Given the description of an element on the screen output the (x, y) to click on. 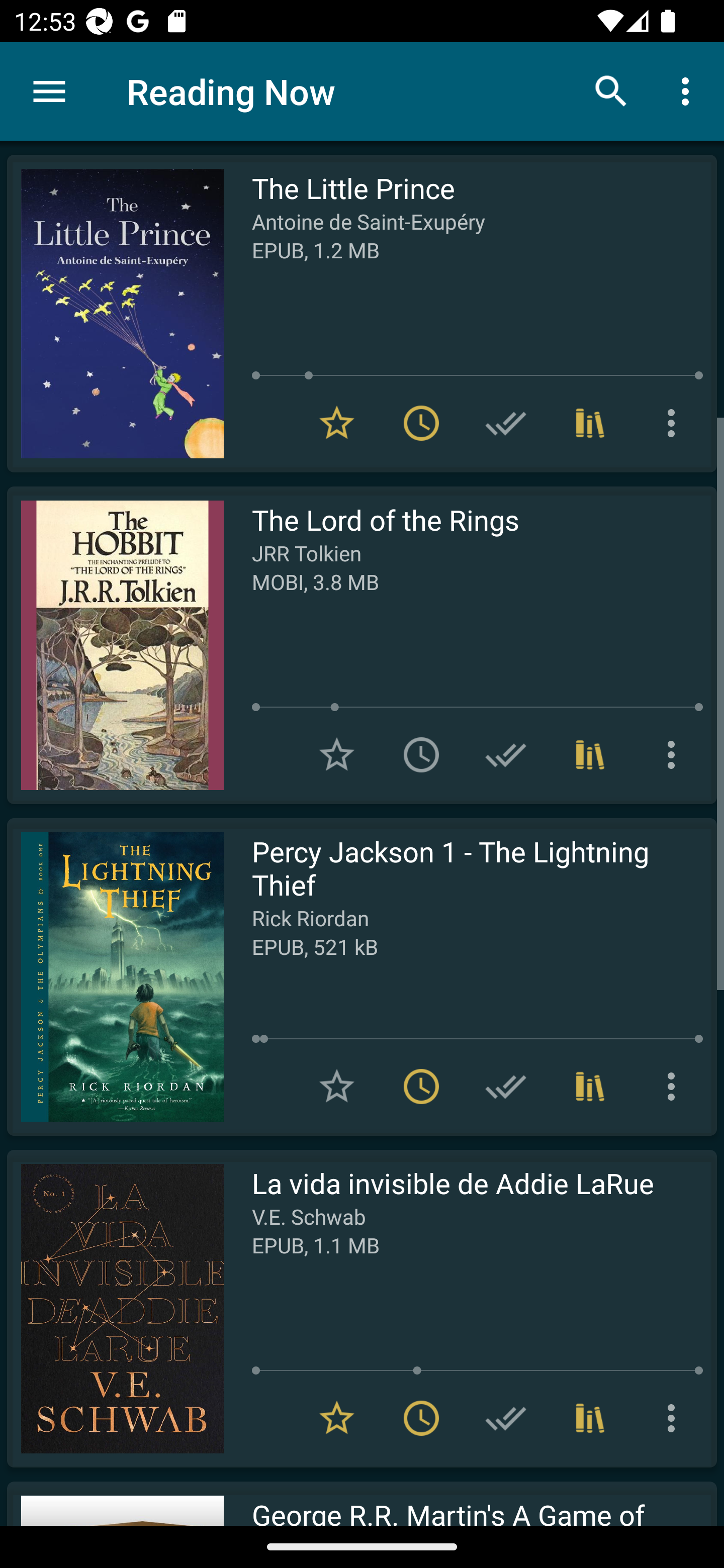
Menu (49, 91)
Search books & documents (611, 90)
More options (688, 90)
Read The Little Prince (115, 313)
Remove from Favorites (336, 423)
Remove from To read (421, 423)
Add to Have read (505, 423)
Collections (1) (590, 423)
More options (674, 423)
Read The Lord of the Rings (115, 645)
Add to Favorites (336, 753)
Add to To read (421, 753)
Add to Have read (505, 753)
Collections (1) (590, 753)
More options (674, 753)
Read Percy Jackson 1 - The Lightning Thief (115, 976)
Add to Favorites (336, 1086)
Remove from To read (421, 1086)
Add to Have read (505, 1086)
Collections (1) (590, 1086)
More options (674, 1086)
Read La vida invisible de Addie LaRue (115, 1308)
Remove from Favorites (336, 1417)
Remove from To read (421, 1417)
Add to Have read (505, 1417)
Collections (1) (590, 1417)
More options (674, 1417)
